Given the description of an element on the screen output the (x, y) to click on. 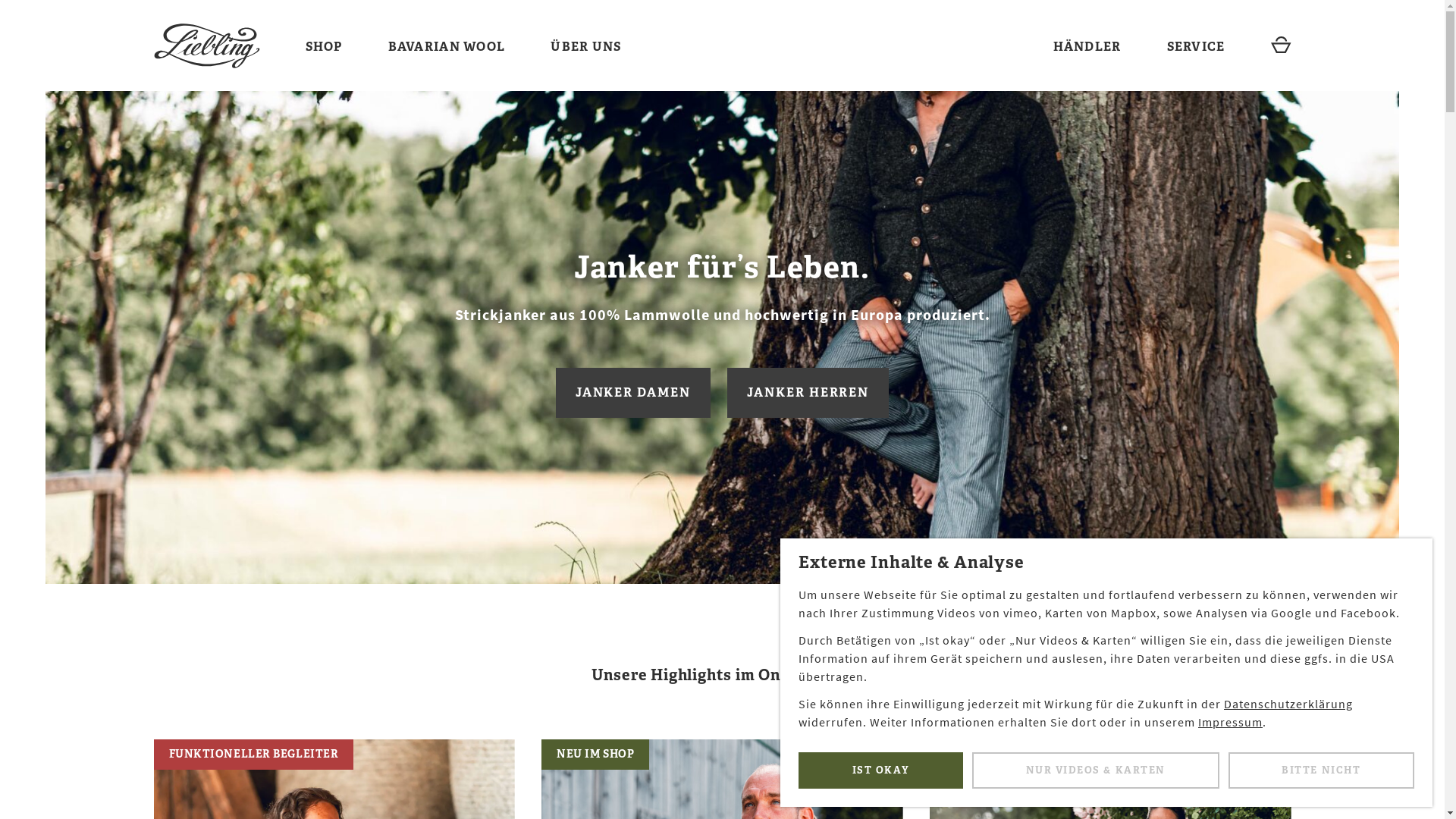
NUR VIDEOS & KARTEN Element type: text (1095, 770)
SHOP Element type: text (323, 47)
BAVARIAN WOOL Element type: text (446, 47)
Impressum Element type: text (1230, 721)
IST OKAY Element type: text (880, 770)
BITTE NICHT Element type: text (1321, 770)
JANKER DAMEN Element type: text (632, 392)
SERVICE Element type: text (1196, 47)
JANKER HERREN Element type: text (807, 392)
